Given the description of an element on the screen output the (x, y) to click on. 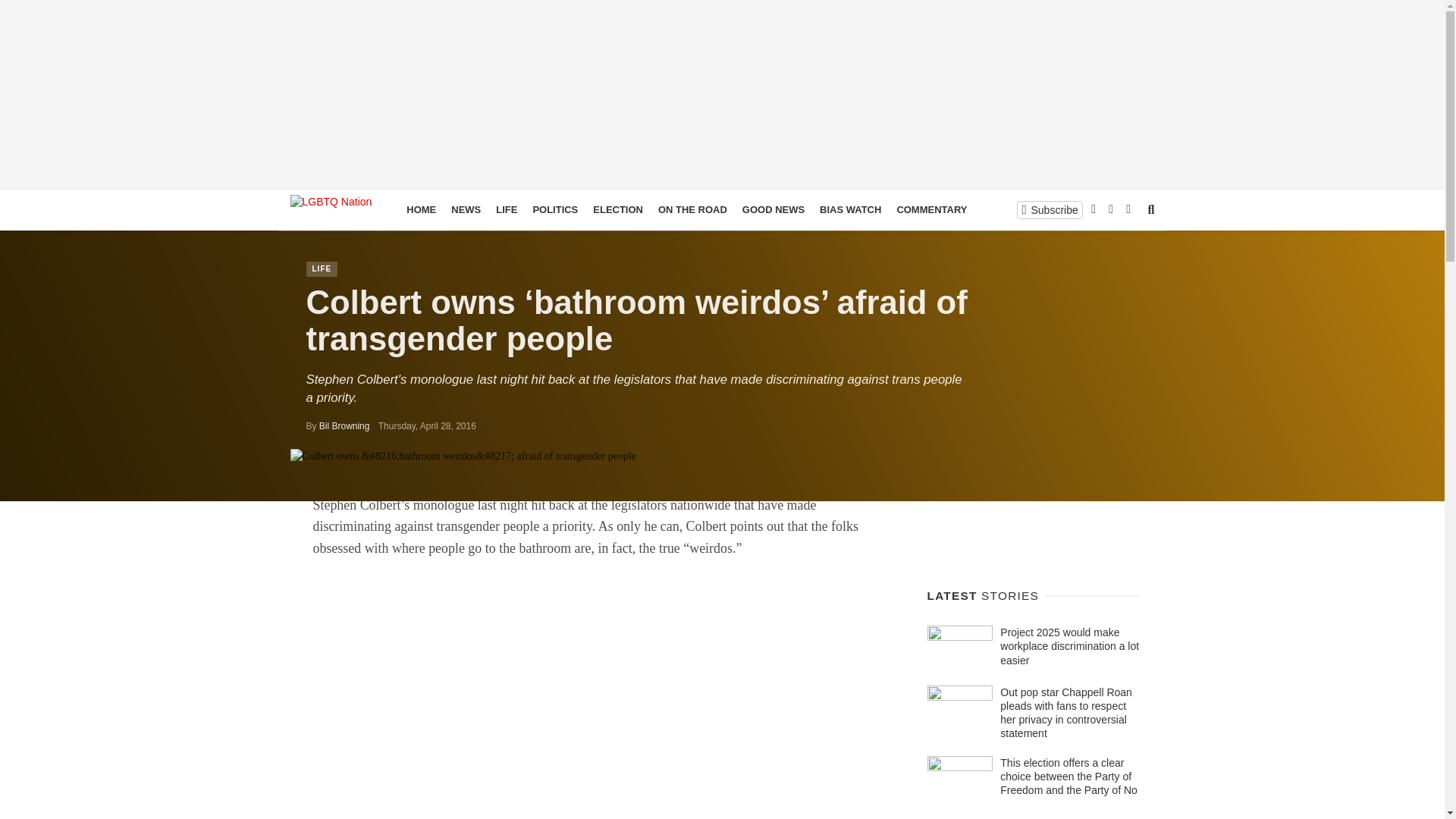
LIFE (505, 209)
POLITICS (554, 209)
Subscribe (1049, 209)
COMMENTARY (931, 209)
Thursday, April 28, 2016 am30 09:44:36 (427, 425)
NEWS (465, 209)
LIFE (321, 268)
HOME (421, 209)
BIAS WATCH (850, 209)
GOOD NEWS (773, 209)
